Given the description of an element on the screen output the (x, y) to click on. 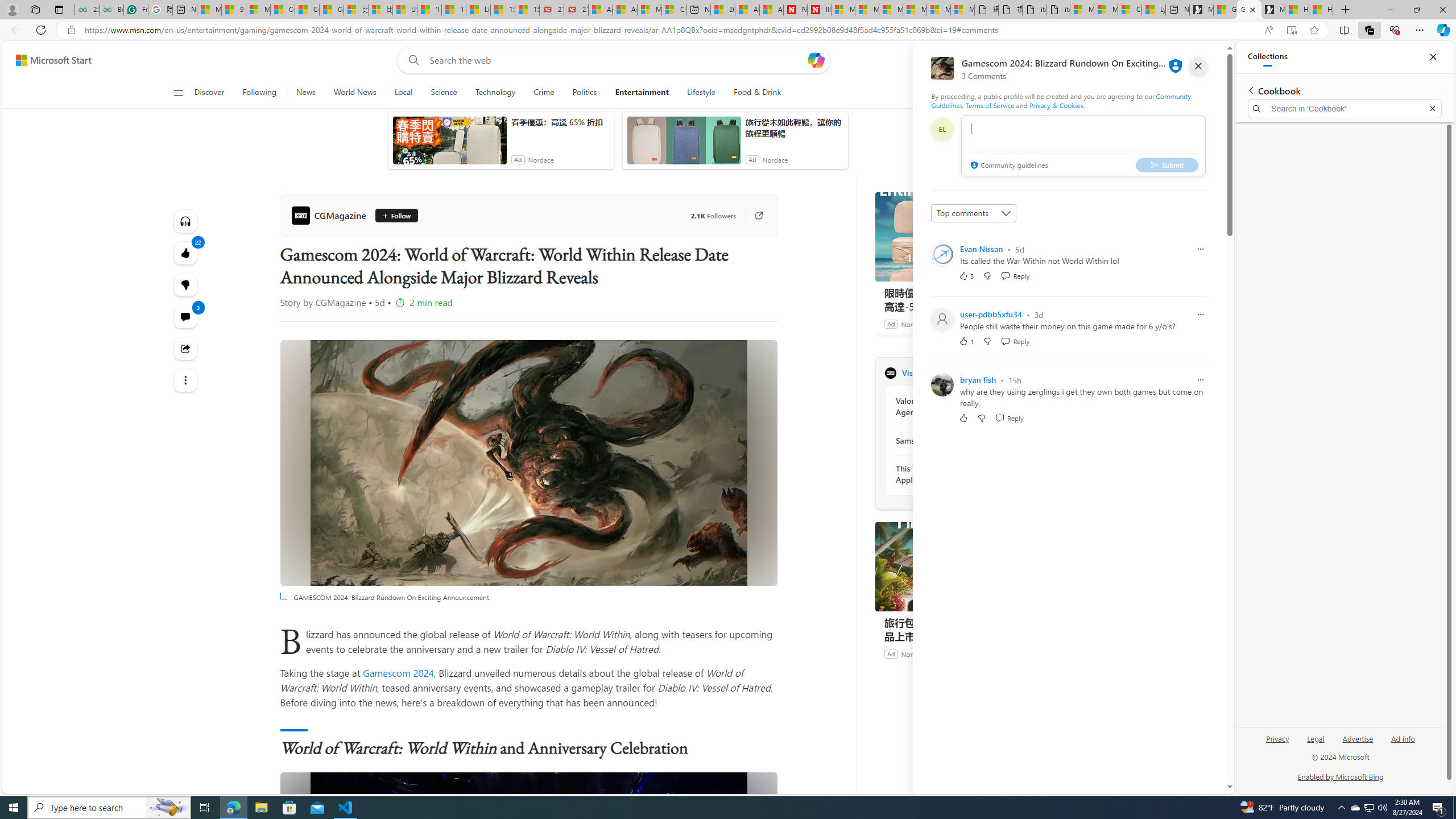
anim-content (683, 144)
Report comment (1200, 379)
user-pdbb5xfu34 (990, 314)
Sort comments by (973, 212)
close (1198, 65)
Lifestyle - MSN (478, 9)
